Given the description of an element on the screen output the (x, y) to click on. 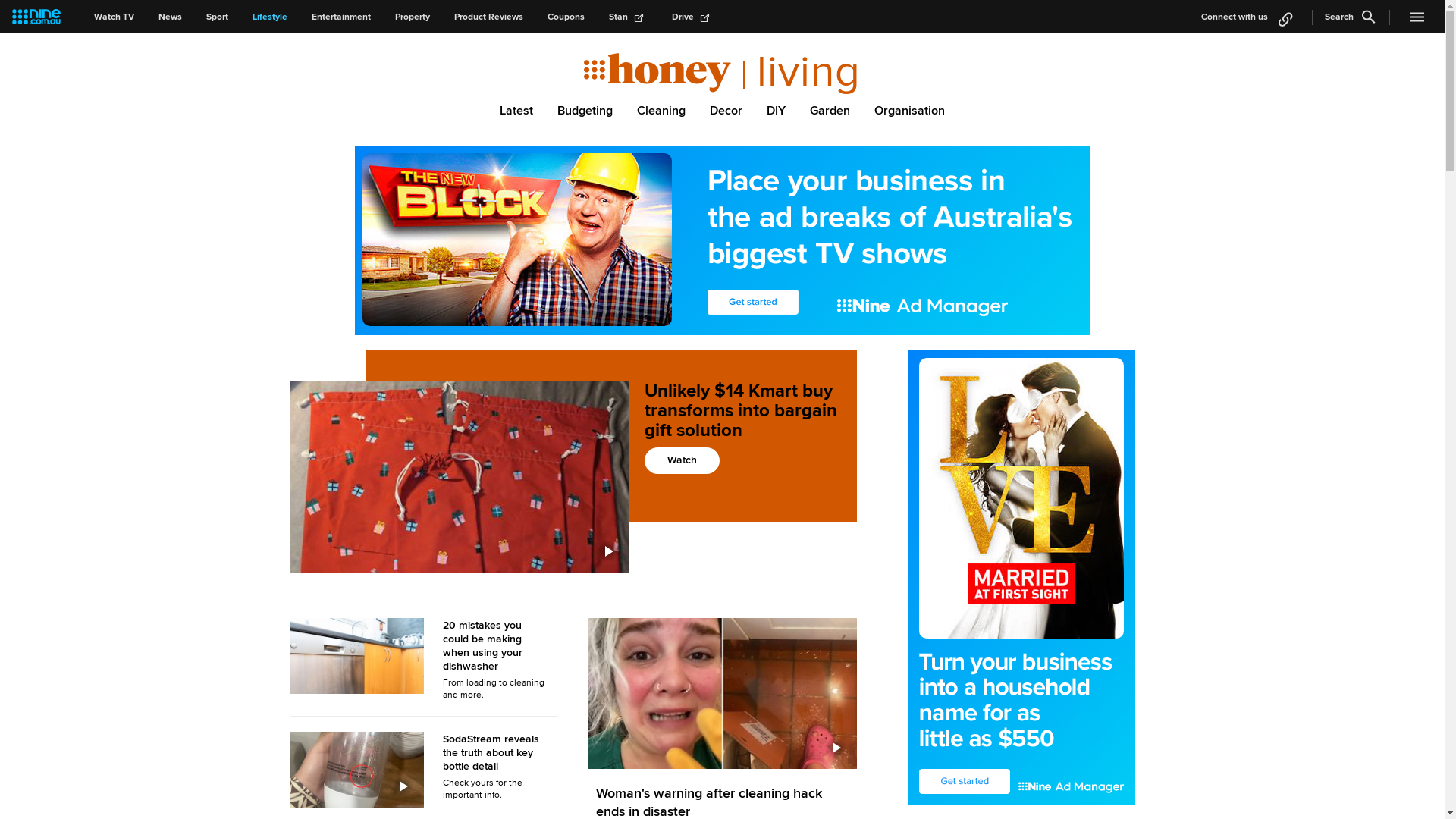
Garden Element type: text (829, 109)
Product Reviews Element type: text (488, 16)
Stan Element type: text (627, 16)
News Element type: text (170, 16)
Coupons Element type: text (565, 16)
Organisation Element type: text (909, 109)
DIY Element type: text (775, 109)
Sport Element type: text (217, 16)
3rd party ad content Element type: hover (722, 240)
Entertainment Element type: text (340, 16)
Unlikely $14 Kmart buy transforms into bargain gift solution Element type: text (742, 422)
Lifestyle Element type: text (269, 16)
Decor Element type: text (725, 109)
3rd party ad content Element type: hover (1020, 577)
Budgeting Element type: text (584, 109)
Drive Element type: text (692, 16)
Latest Element type: text (516, 109)
Watch TV Element type: text (114, 16)
living Element type: text (802, 71)
Cleaning Element type: text (660, 109)
Property Element type: text (412, 16)
Watch Element type: text (681, 460)
